Given the description of an element on the screen output the (x, y) to click on. 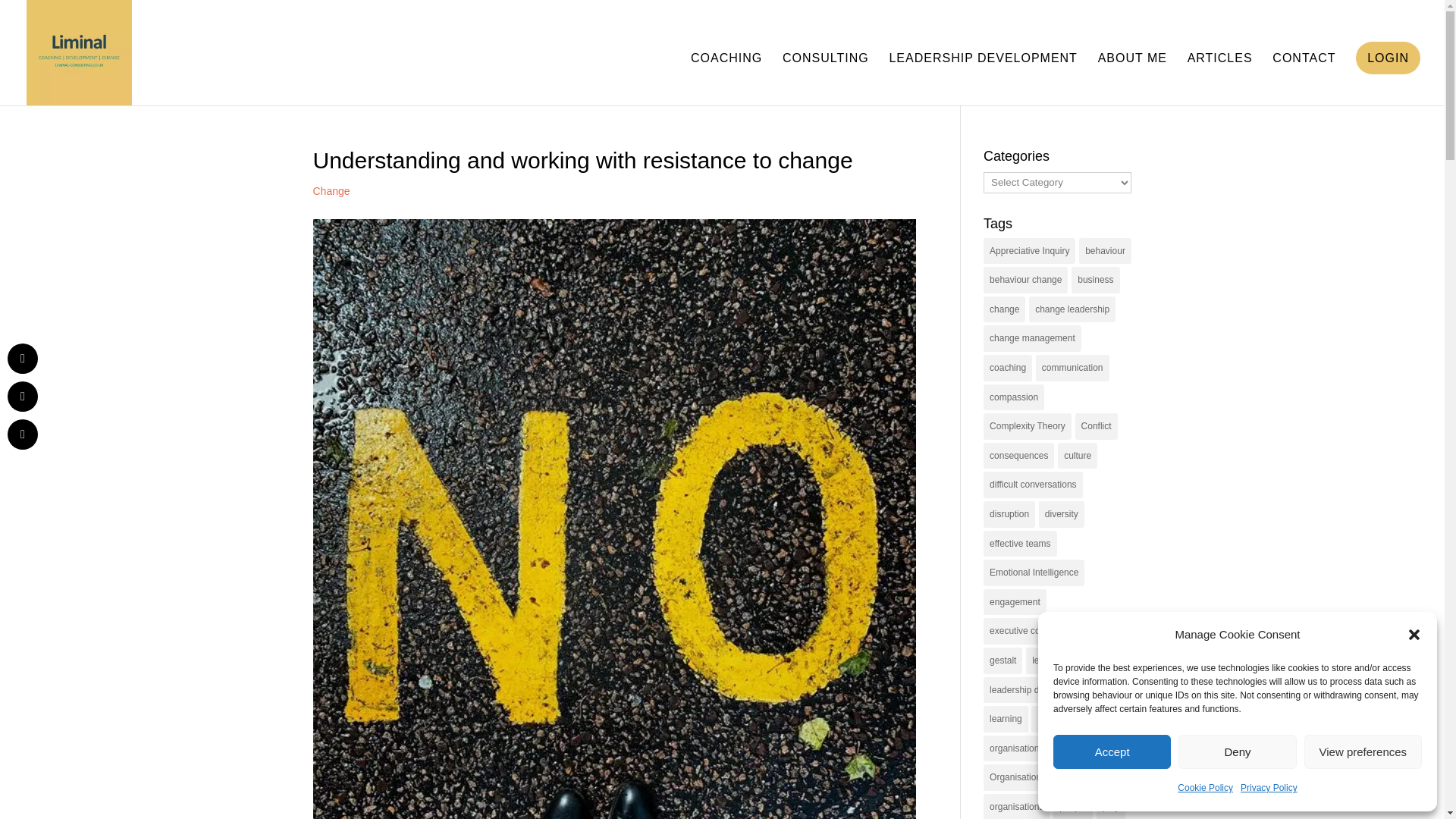
View preferences (1363, 751)
Deny (1236, 751)
CONTACT (1303, 79)
Cookie Policy (1205, 788)
COACHING (725, 79)
ARTICLES (1220, 79)
Privacy Policy (1268, 788)
ABOUT ME (1132, 79)
Change (331, 191)
LEADERSHIP DEVELOPMENT (982, 79)
Accept (1111, 751)
CONSULTING (826, 79)
